Given the description of an element on the screen output the (x, y) to click on. 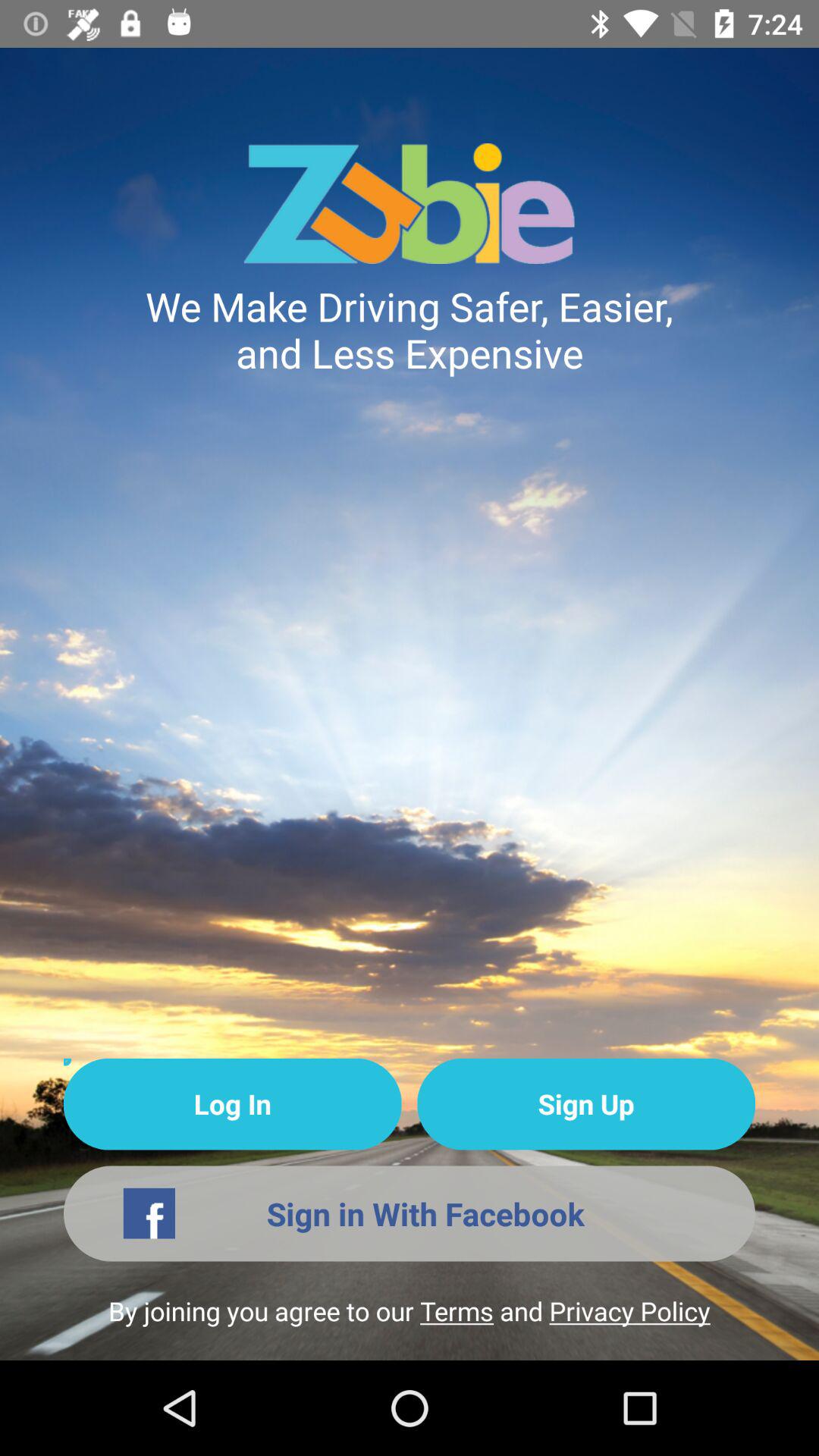
select item to the left of sign up (232, 1104)
